Given the description of an element on the screen output the (x, y) to click on. 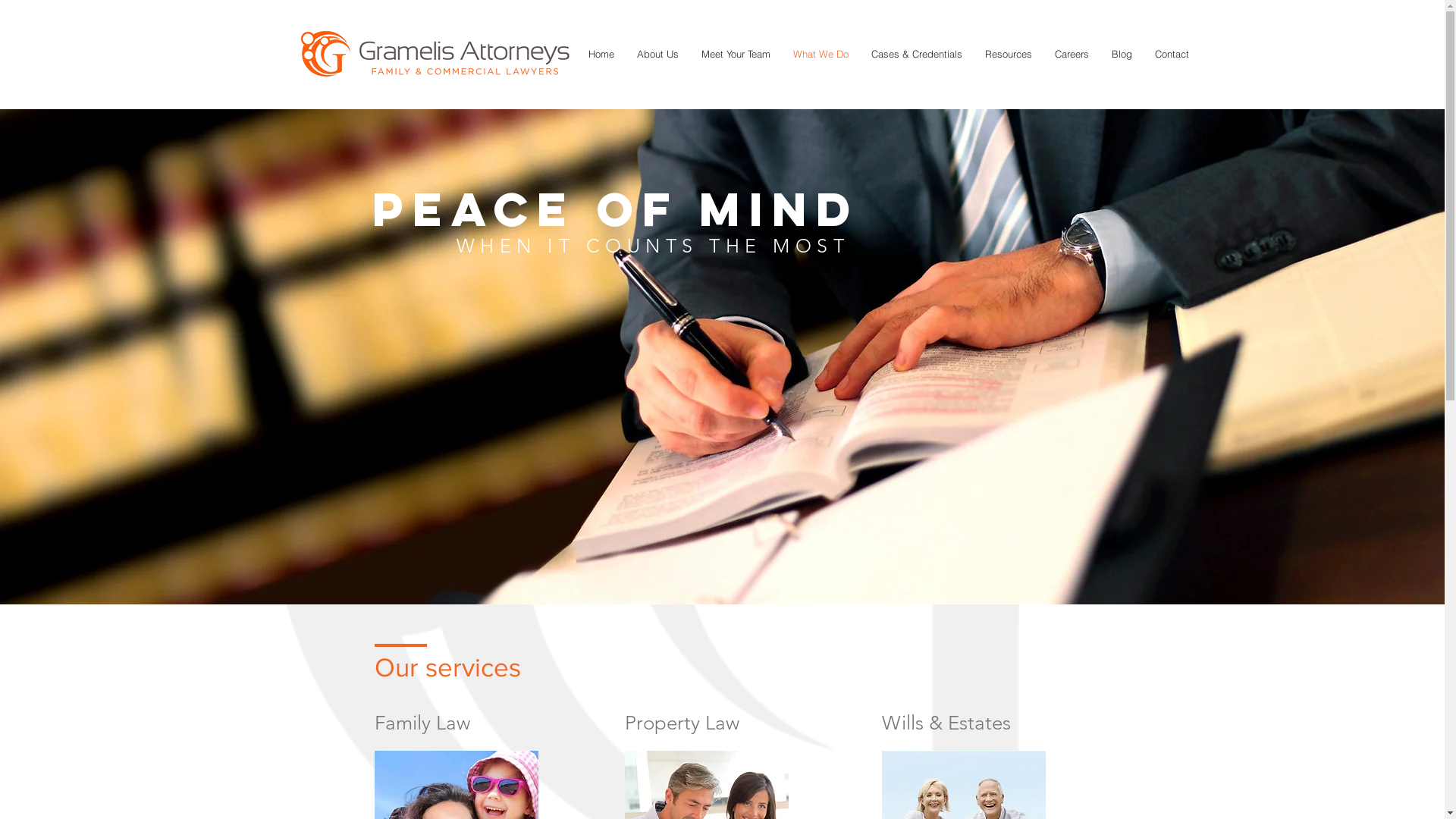
Contact Element type: text (1171, 53)
What We Do Element type: text (820, 53)
Home Element type: text (601, 53)
Cases & Credentials Element type: text (916, 53)
Careers Element type: text (1071, 53)
Resources Element type: text (1008, 53)
Meet Your Team Element type: text (735, 53)
Blog Element type: text (1121, 53)
About Us Element type: text (657, 53)
